Given the description of an element on the screen output the (x, y) to click on. 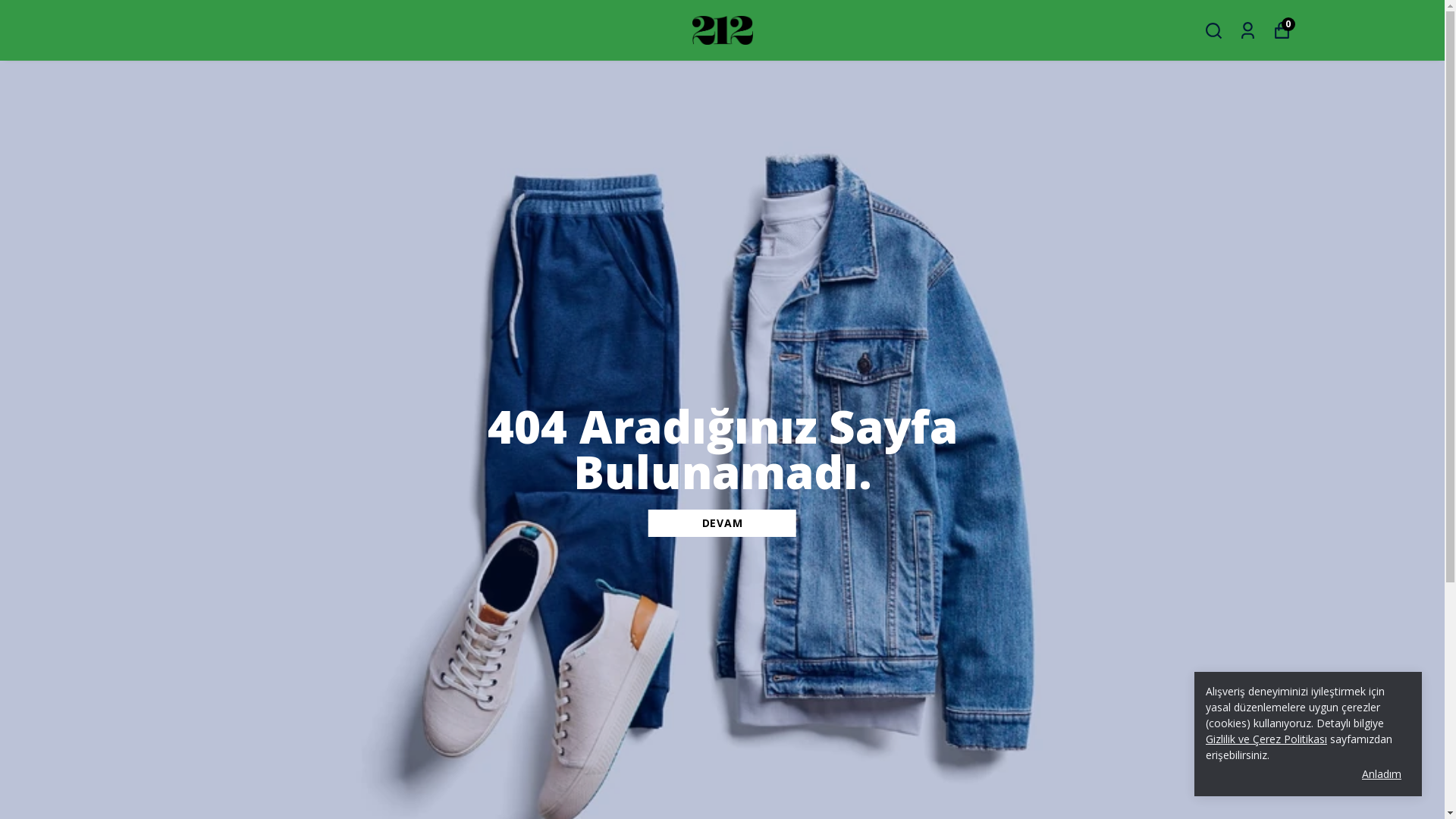
DEVAM Element type: text (722, 522)
